Given the description of an element on the screen output the (x, y) to click on. 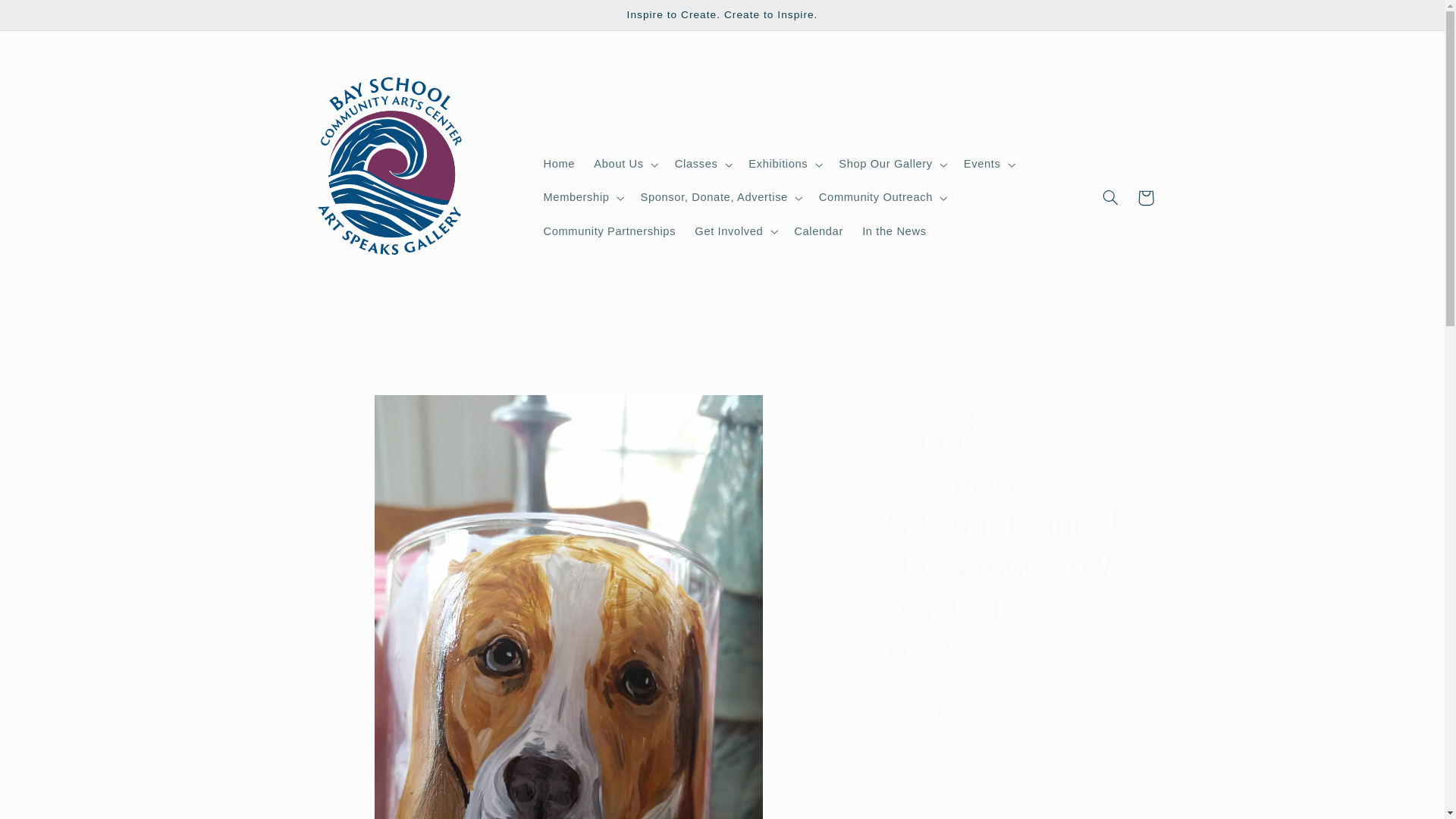
Skip to content (48, 18)
1 (939, 714)
